Given the description of an element on the screen output the (x, y) to click on. 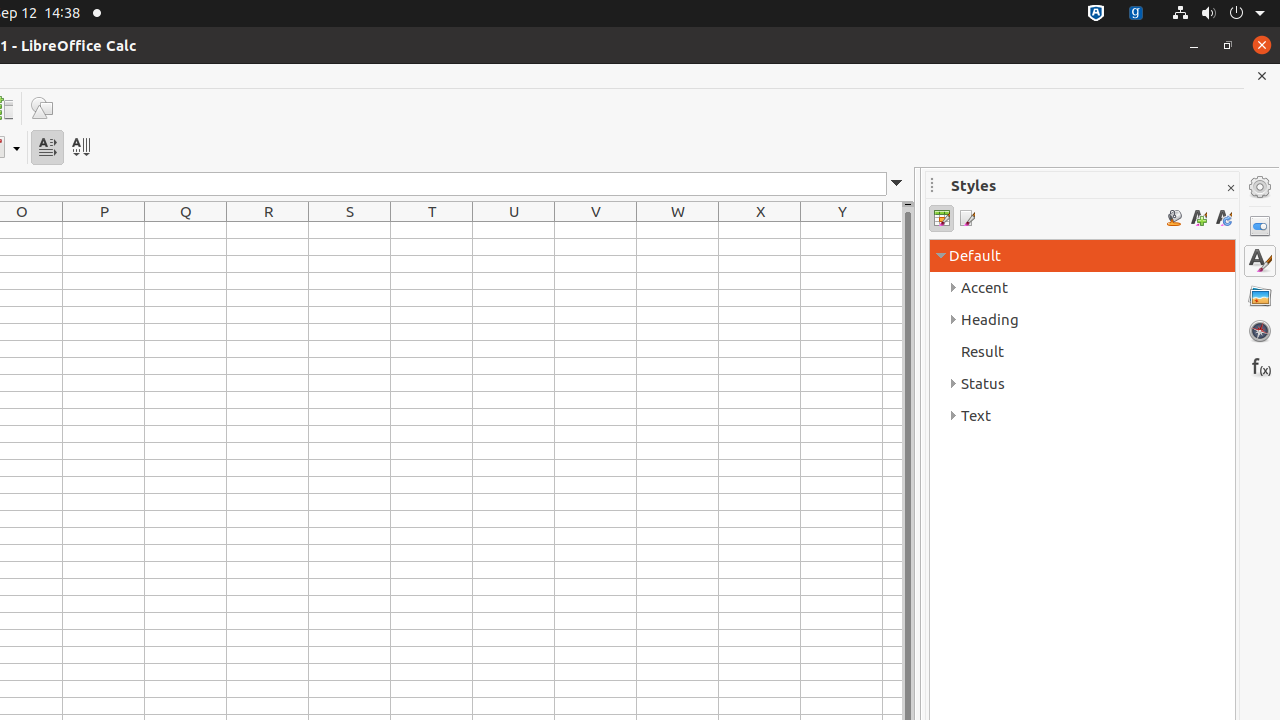
:1.72/StatusNotifierItem Element type: menu (1096, 13)
Z1 Element type: table-cell (892, 230)
Properties Element type: radio-button (1260, 226)
T1 Element type: table-cell (432, 230)
